Given the description of an element on the screen output the (x, y) to click on. 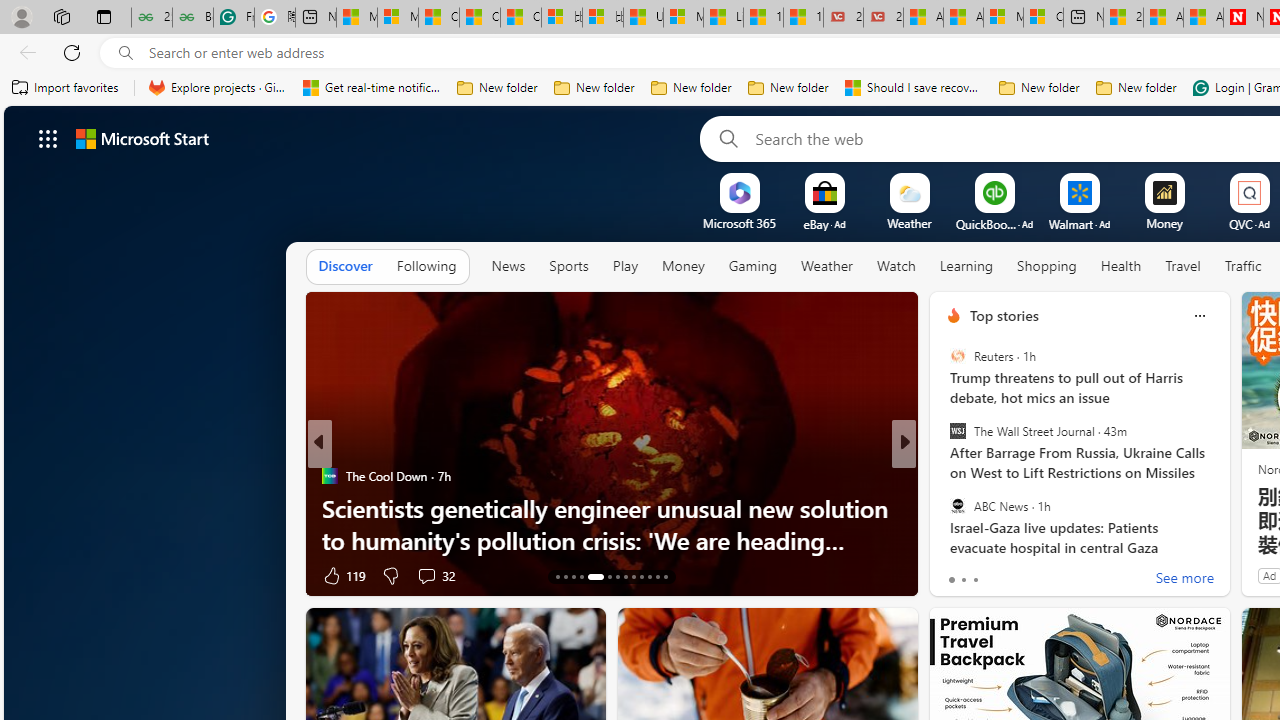
View comments 5 Comment (1041, 574)
AutomationID: tab-25 (664, 576)
New folder (1136, 88)
ABC News (957, 505)
Import favorites (65, 88)
tab-2 (974, 579)
84 Like (956, 574)
AutomationID: tab-23 (649, 576)
AutomationID: tab-14 (564, 576)
313 Like (959, 574)
INSIDER (944, 475)
244 Like (959, 574)
AutomationID: tab-16 (581, 576)
21 Movies That Outdid the Books They Were Based On (883, 17)
